Given the description of an element on the screen output the (x, y) to click on. 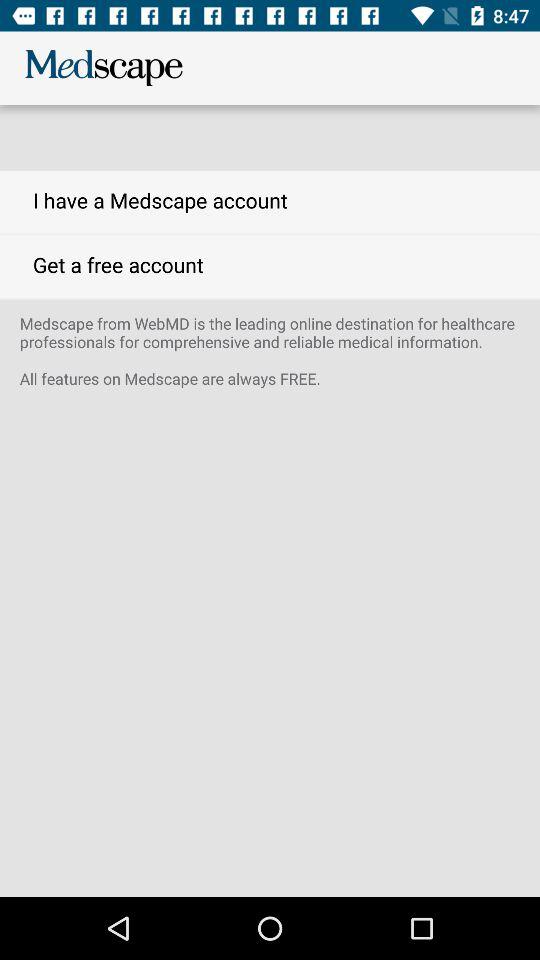
launch i have a icon (270, 201)
